Given the description of an element on the screen output the (x, y) to click on. 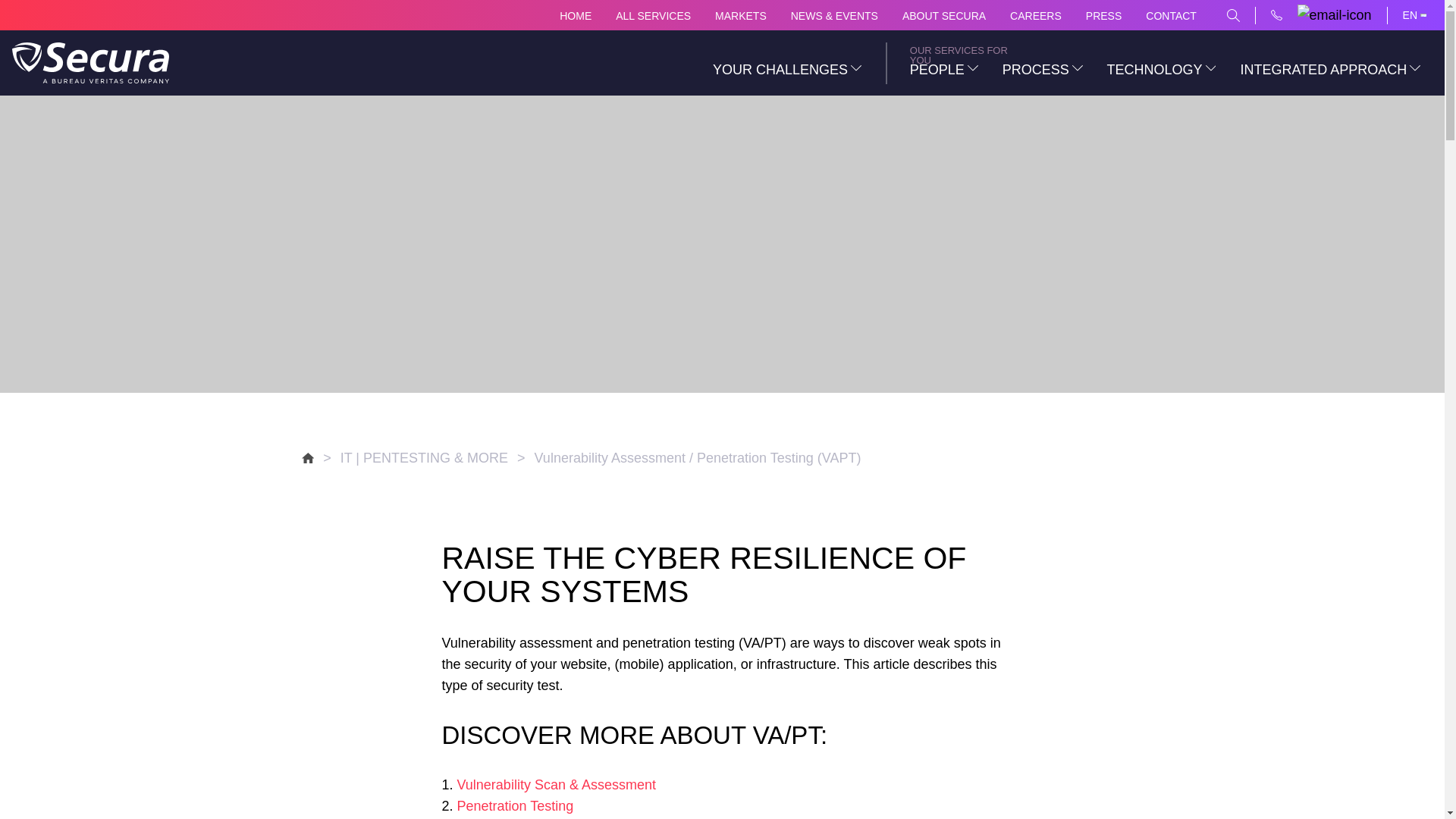
PRESS (1103, 15)
ABOUT SECURA (943, 15)
CAREERS (1035, 15)
MARKETS (740, 15)
HOME (575, 15)
ALL SERVICES (652, 15)
CONTACT (1170, 15)
